Given the description of an element on the screen output the (x, y) to click on. 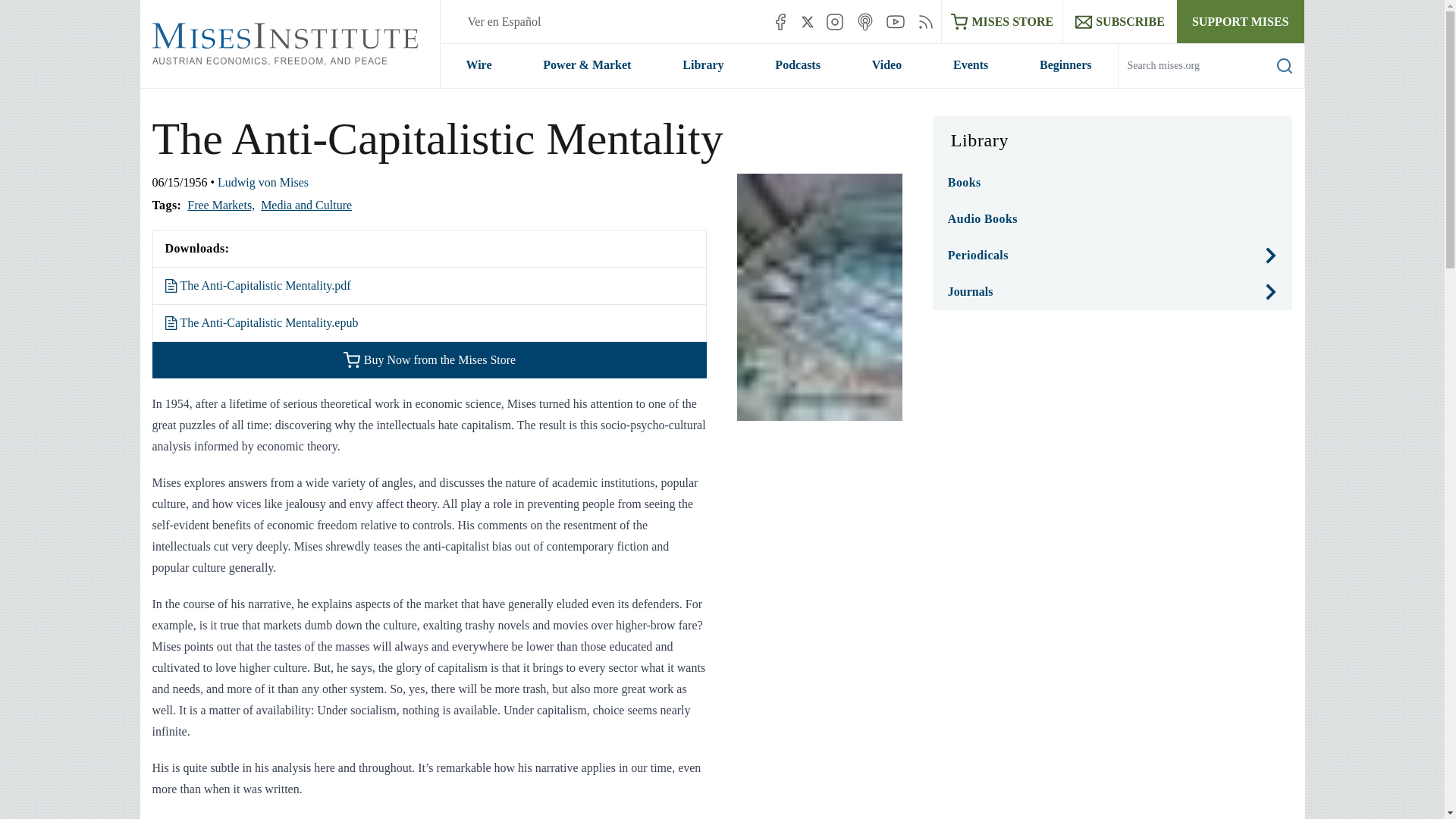
Mises X (807, 21)
Wire (477, 65)
Library (702, 65)
Search (1284, 65)
Podcasts (797, 65)
MISES STORE (1002, 21)
Mises Instagram (834, 21)
Mises itunes (865, 21)
SUPPORT MISES (1240, 21)
Mises Youtube (895, 21)
Mises RSS feed (925, 21)
Events (970, 65)
Mises Facebook (780, 21)
Beginners (1064, 65)
